Given the description of an element on the screen output the (x, y) to click on. 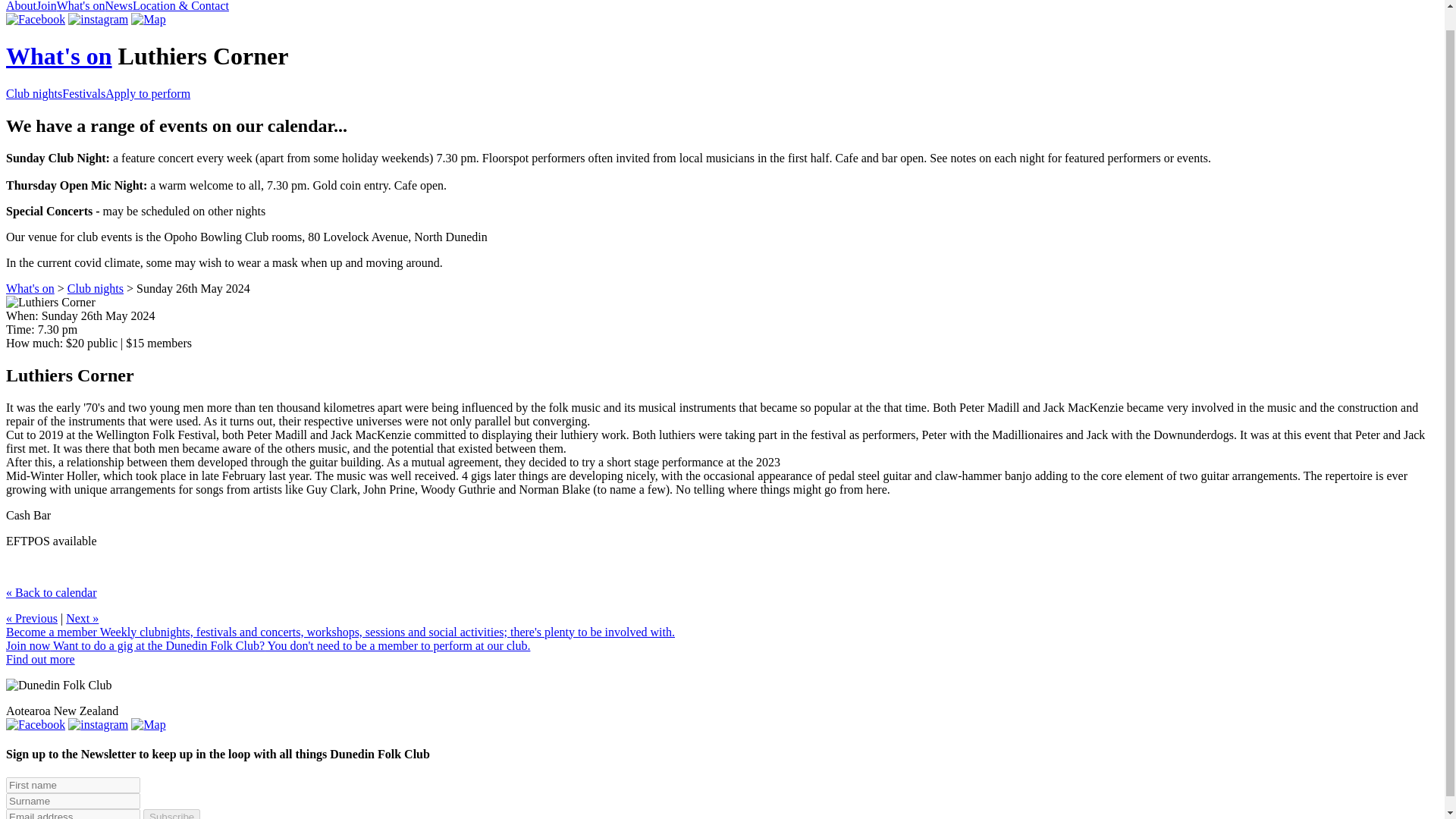
Festivals (83, 92)
Join (46, 6)
News (118, 6)
Club nights (94, 287)
Apply to perform (147, 92)
What's on (58, 55)
What's on (80, 6)
What's on (30, 287)
Club nights (33, 92)
About (20, 6)
King's Birthday Weekend  (82, 617)
